Given the description of an element on the screen output the (x, y) to click on. 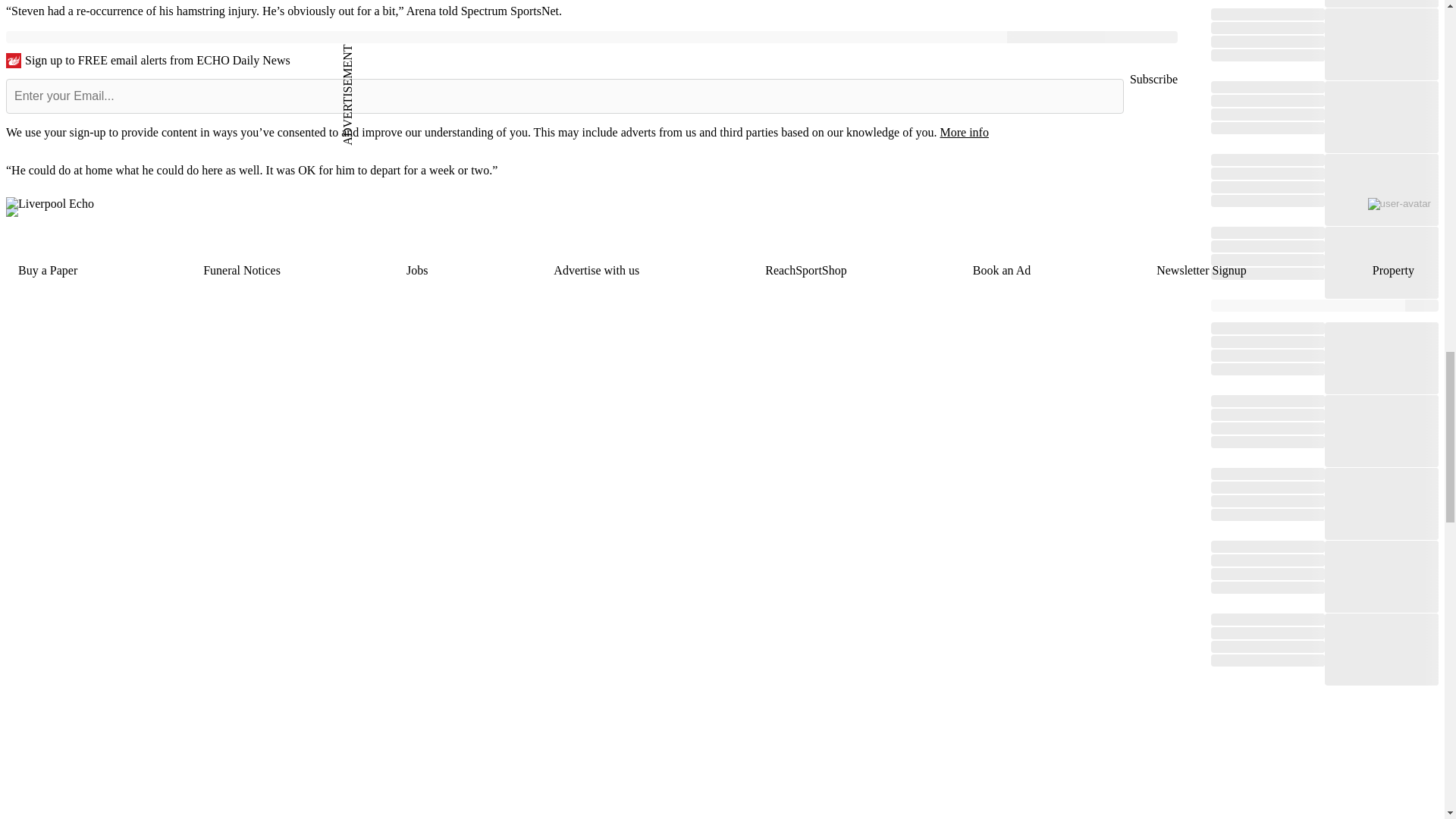
Subscribe (1153, 79)
More info (963, 132)
